Given the description of an element on the screen output the (x, y) to click on. 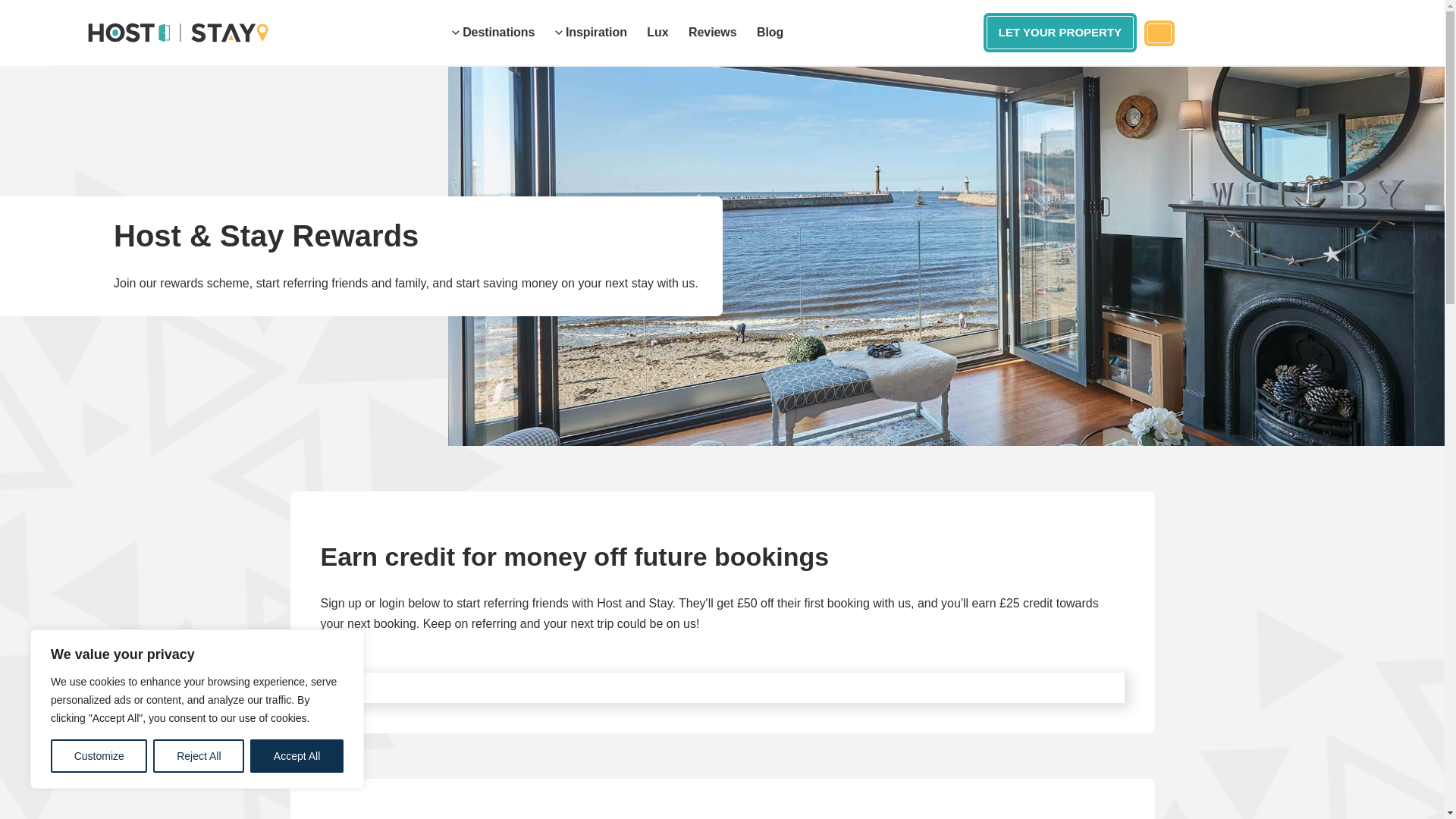
Destinations (492, 32)
Reject All (198, 756)
Accept All (296, 756)
Customize (98, 756)
Inspiration (590, 32)
